Given the description of an element on the screen output the (x, y) to click on. 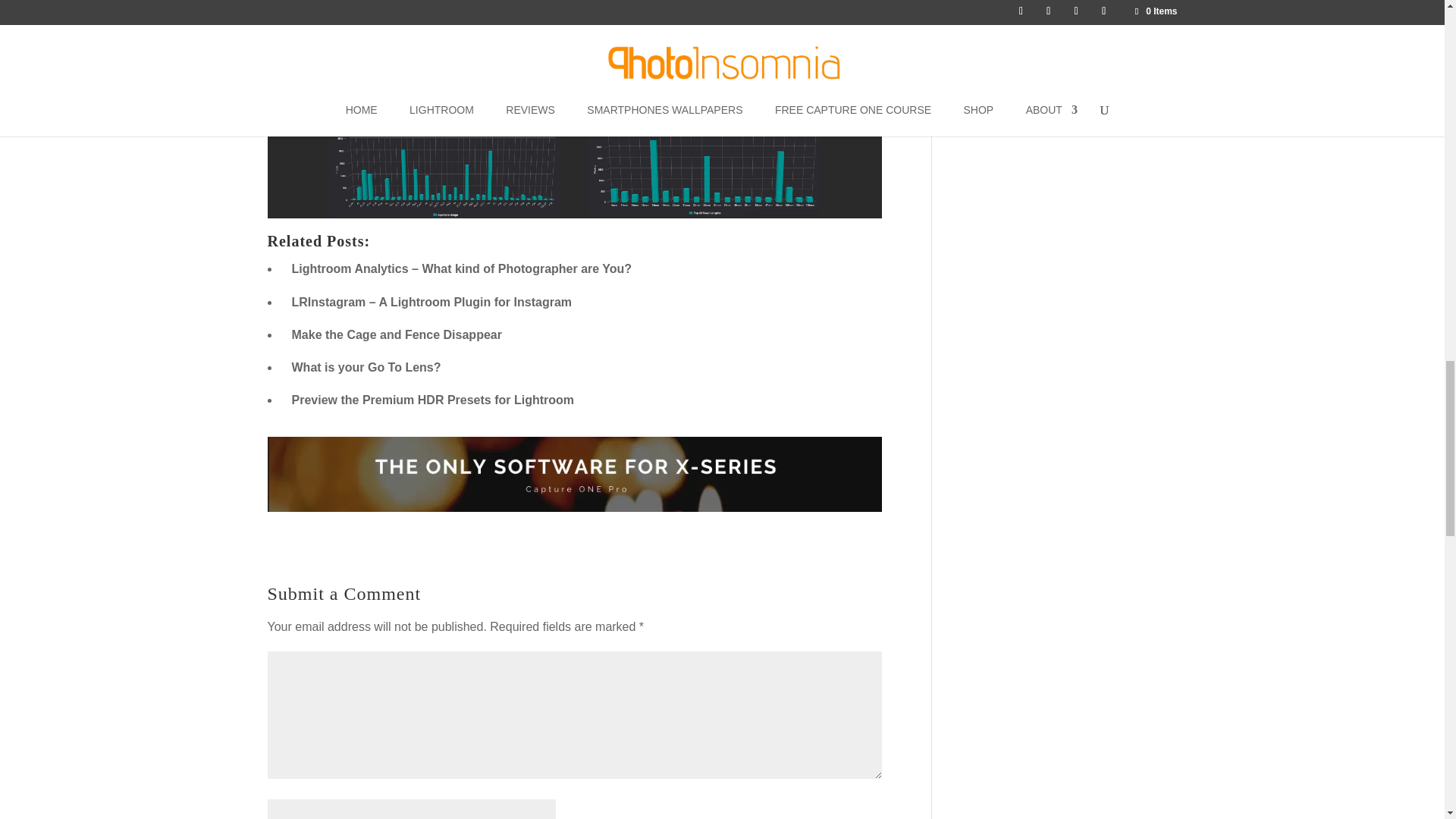
Focal Length Usage (703, 215)
Preview the Premium HDR Presets for Lightroom (432, 399)
General Summary (575, 122)
Make the Cage and Fence Disappear (395, 334)
Aperture Usage (444, 217)
What is your Go To Lens? (366, 367)
